Given the description of an element on the screen output the (x, y) to click on. 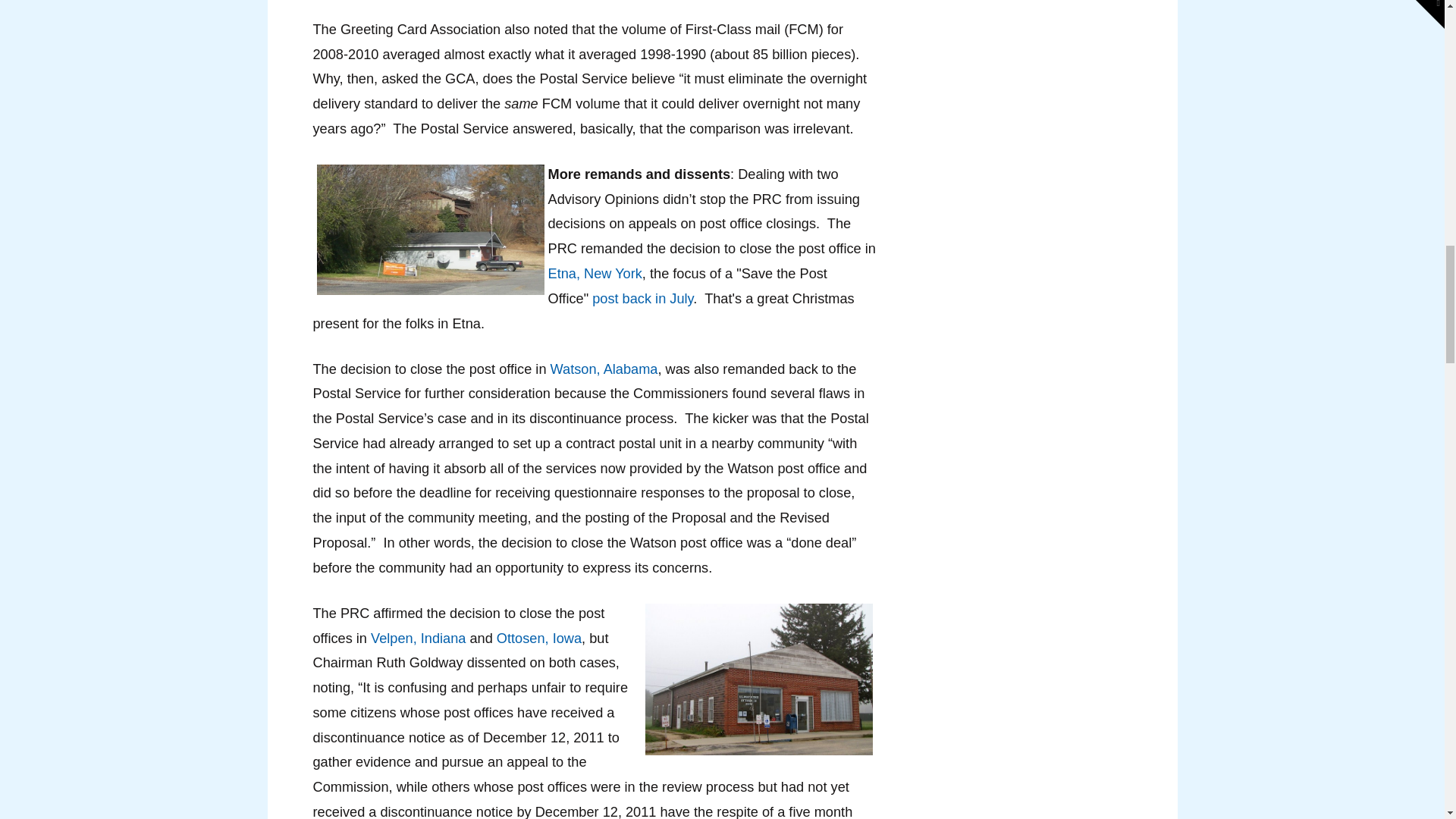
Etna, New York (594, 273)
